Given the description of an element on the screen output the (x, y) to click on. 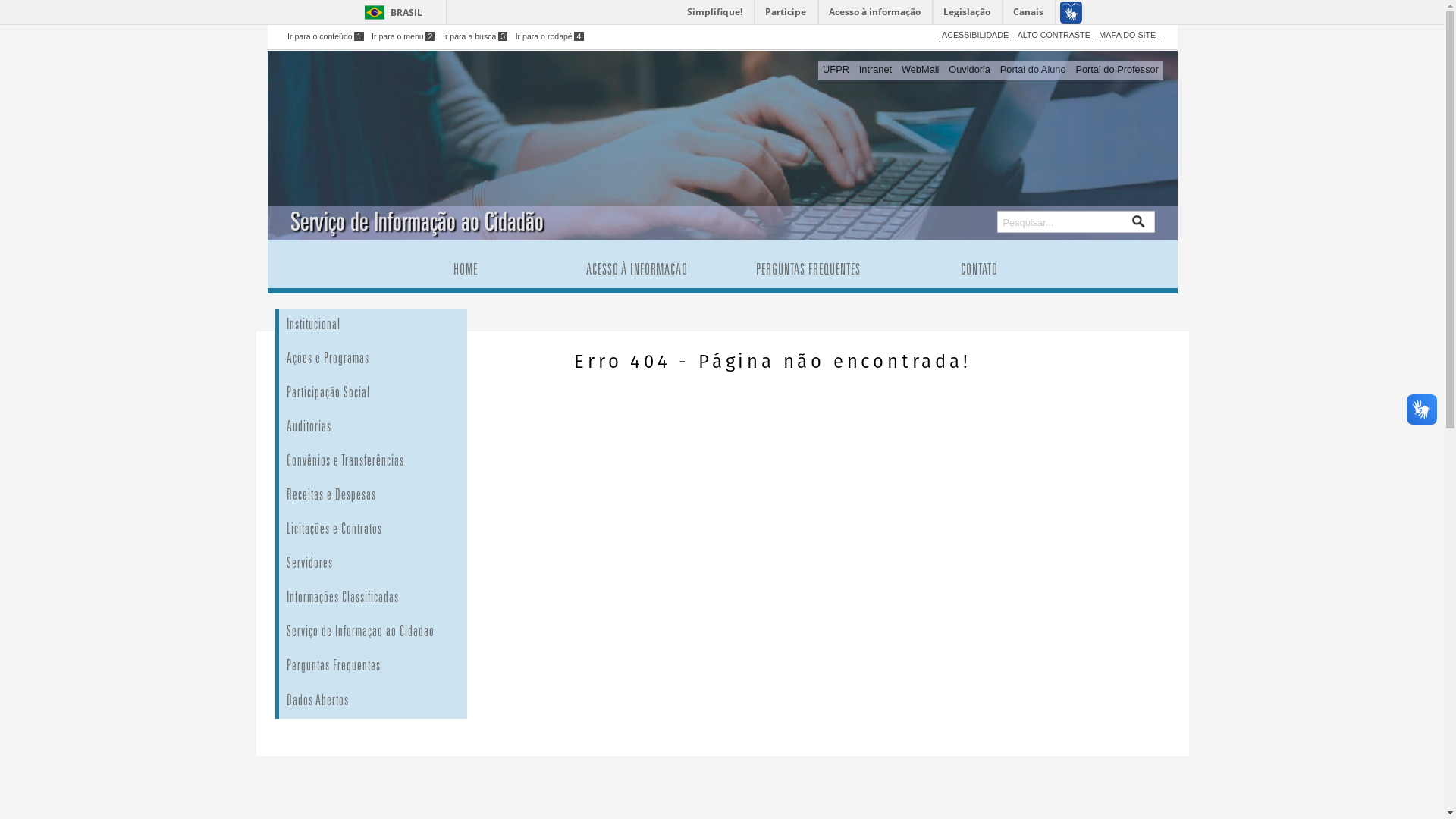
Ouvidoria Element type: text (969, 70)
Auditorias Element type: text (395, 428)
HOME Element type: text (465, 270)
CONTATO Element type: text (978, 270)
ALTO CONTRASTE Element type: text (1053, 34)
Ir para a busca3 Element type: text (475, 36)
BRASIL Element type: text (389, 12)
Servidores Element type: text (395, 564)
Intranet Element type: text (874, 70)
ACESSIBILIDADE Element type: text (975, 34)
Ir para o menu2 Element type: text (403, 36)
WebMail Element type: text (919, 70)
Perguntas Frequentes Element type: text (395, 667)
Receitas e Despesas Element type: text (395, 496)
UFPR Element type: text (836, 70)
Institucional Element type: text (395, 326)
Portal do Aluno Element type: text (1032, 70)
Dados Abertos Element type: text (395, 701)
Portal do Professor Element type: text (1116, 70)
MAPA DO SITE Element type: text (1126, 34)
PERGUNTAS FREQUENTES Element type: text (808, 270)
